Given the description of an element on the screen output the (x, y) to click on. 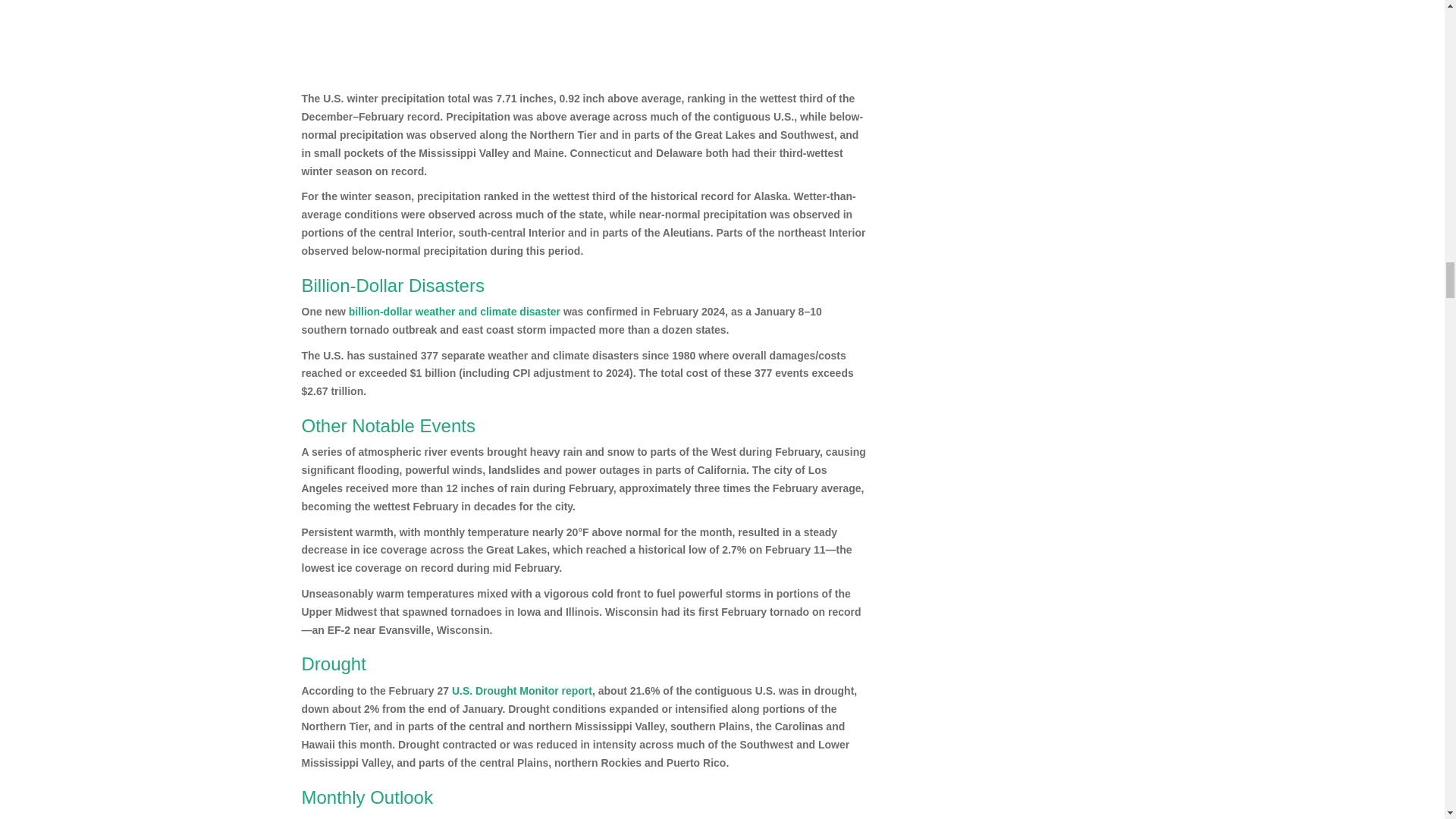
billion-dollar weather and climate disaster (454, 311)
U.S. Drought Monitor report (521, 690)
